Given the description of an element on the screen output the (x, y) to click on. 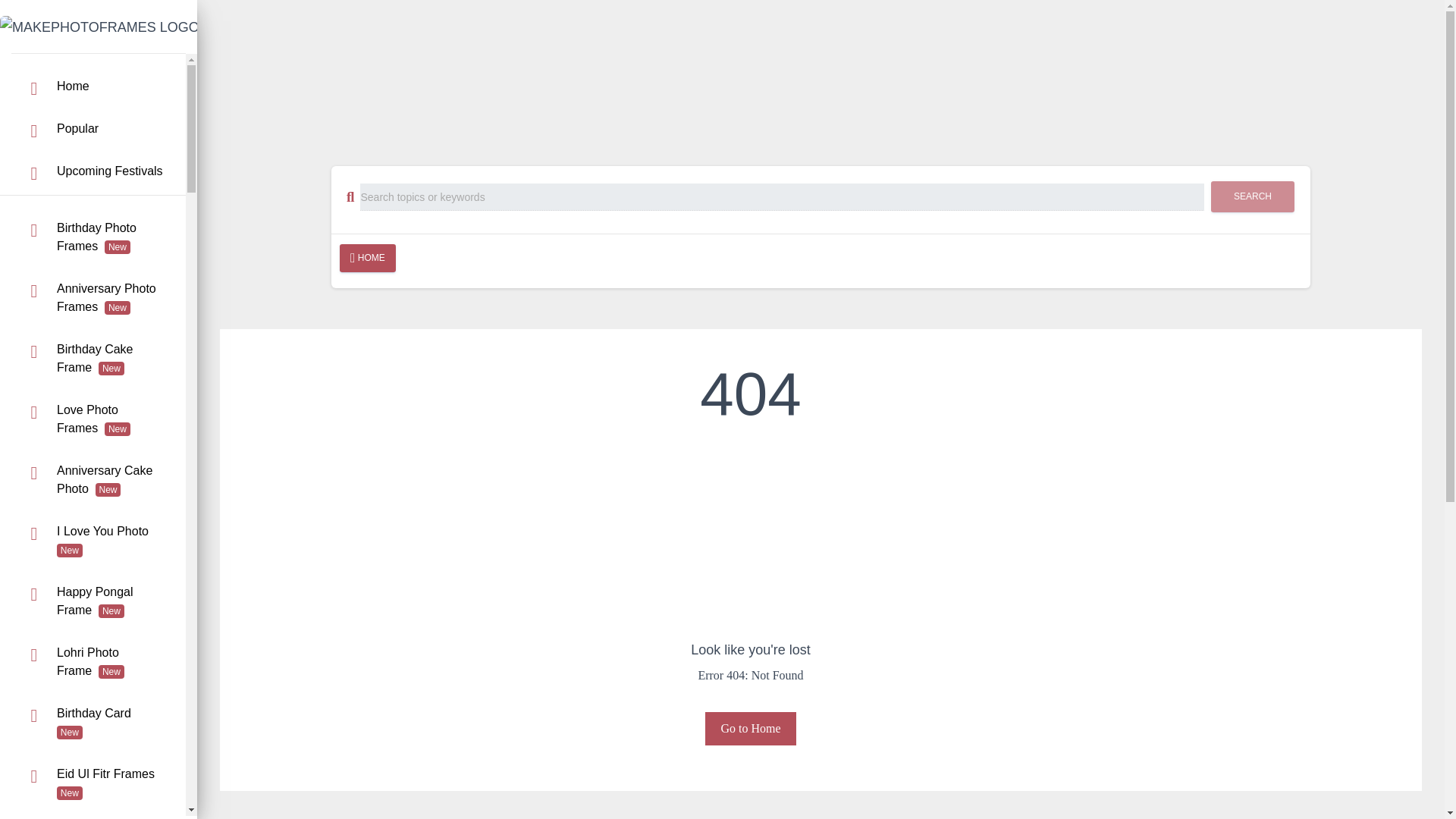
Birthday Cake Frame  New (92, 358)
Lohri Photo Frame  New (92, 661)
Birthday Photo Frames  New (92, 236)
Popular (92, 128)
Birthday Card (92, 722)
Happy Pongal Frame (92, 601)
Upcoming Festivals (92, 171)
popular (92, 128)
Upcoming Festivals (92, 171)
